Given the description of an element on the screen output the (x, y) to click on. 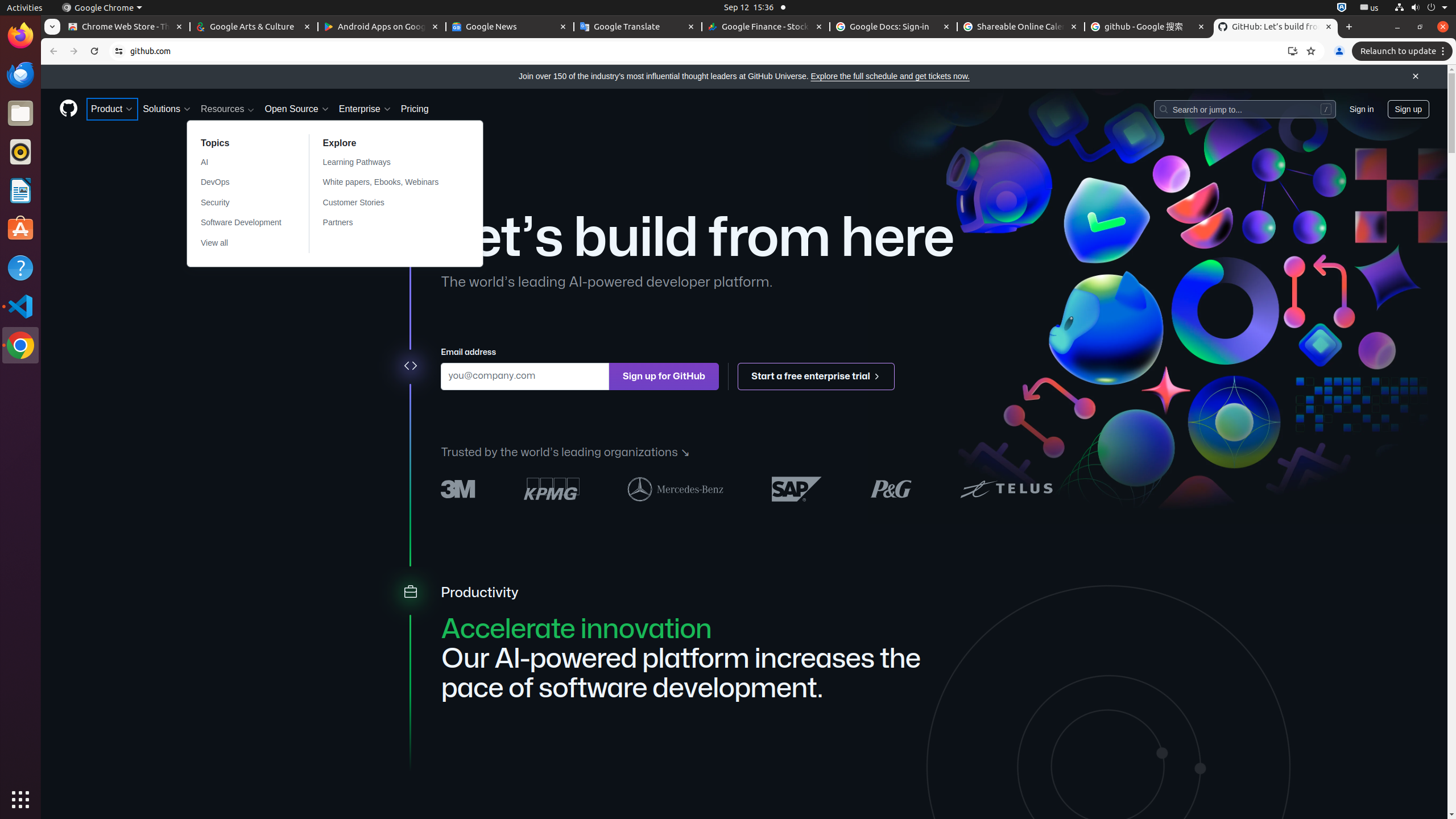
View site information Element type: push-button (118, 51)
Pricing Element type: link (414, 108)
Close Element type: push-button (1415, 76)
Bookmark this tab Element type: push-button (1310, 51)
System Element type: menu (1420, 7)
